Given the description of an element on the screen output the (x, y) to click on. 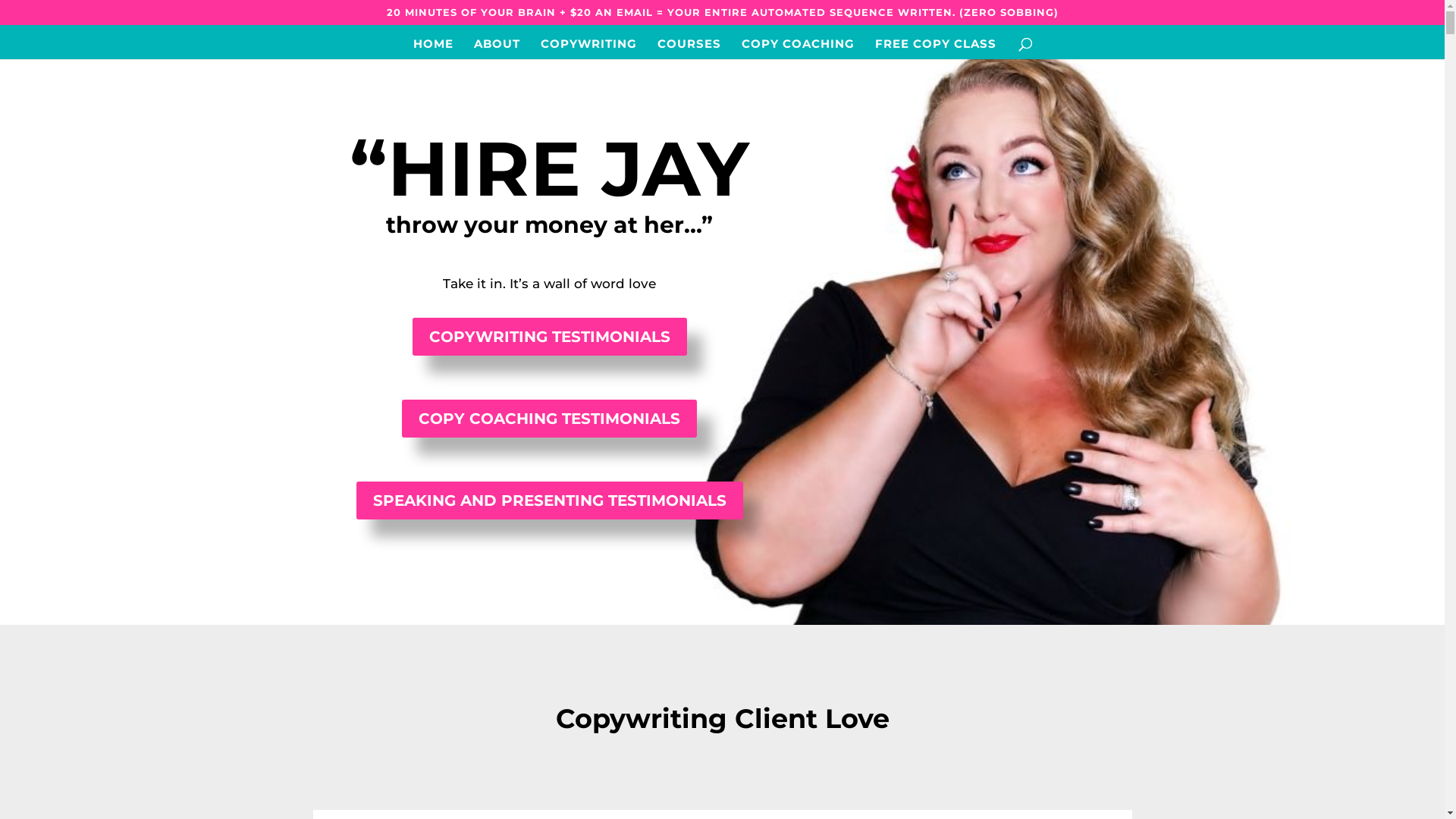
SPEAKING AND PRESENTING TESTIMONIALS Element type: text (549, 500)
ABOUT Element type: text (496, 47)
HOME Element type: text (432, 47)
COPY COACHING Element type: text (797, 47)
COPYWRITING TESTIMONIALS Element type: text (549, 336)
COURSES Element type: text (688, 47)
COPYWRITING Element type: text (587, 47)
COPY COACHING TESTIMONIALS Element type: text (548, 418)
FREE COPY CLASS Element type: text (935, 47)
